Given the description of an element on the screen output the (x, y) to click on. 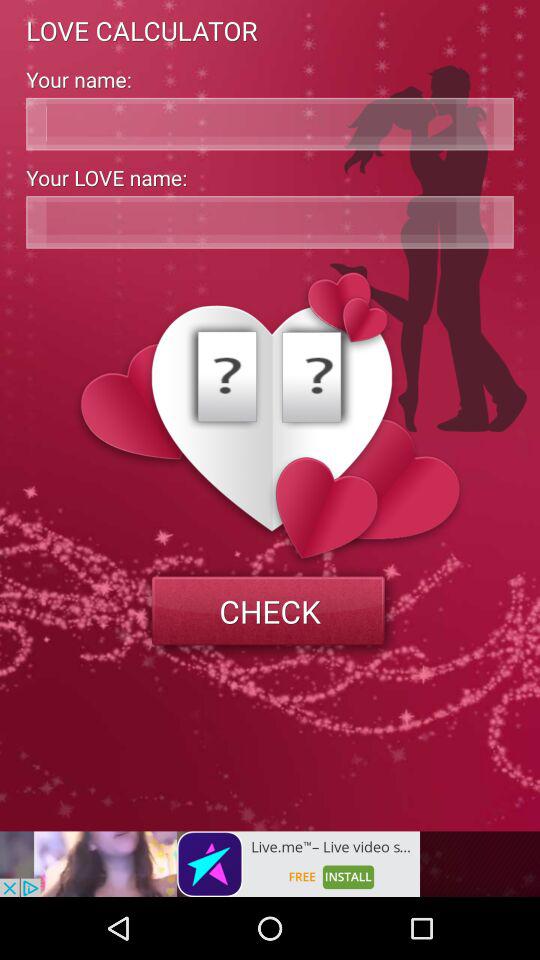
like button (269, 222)
